Given the description of an element on the screen output the (x, y) to click on. 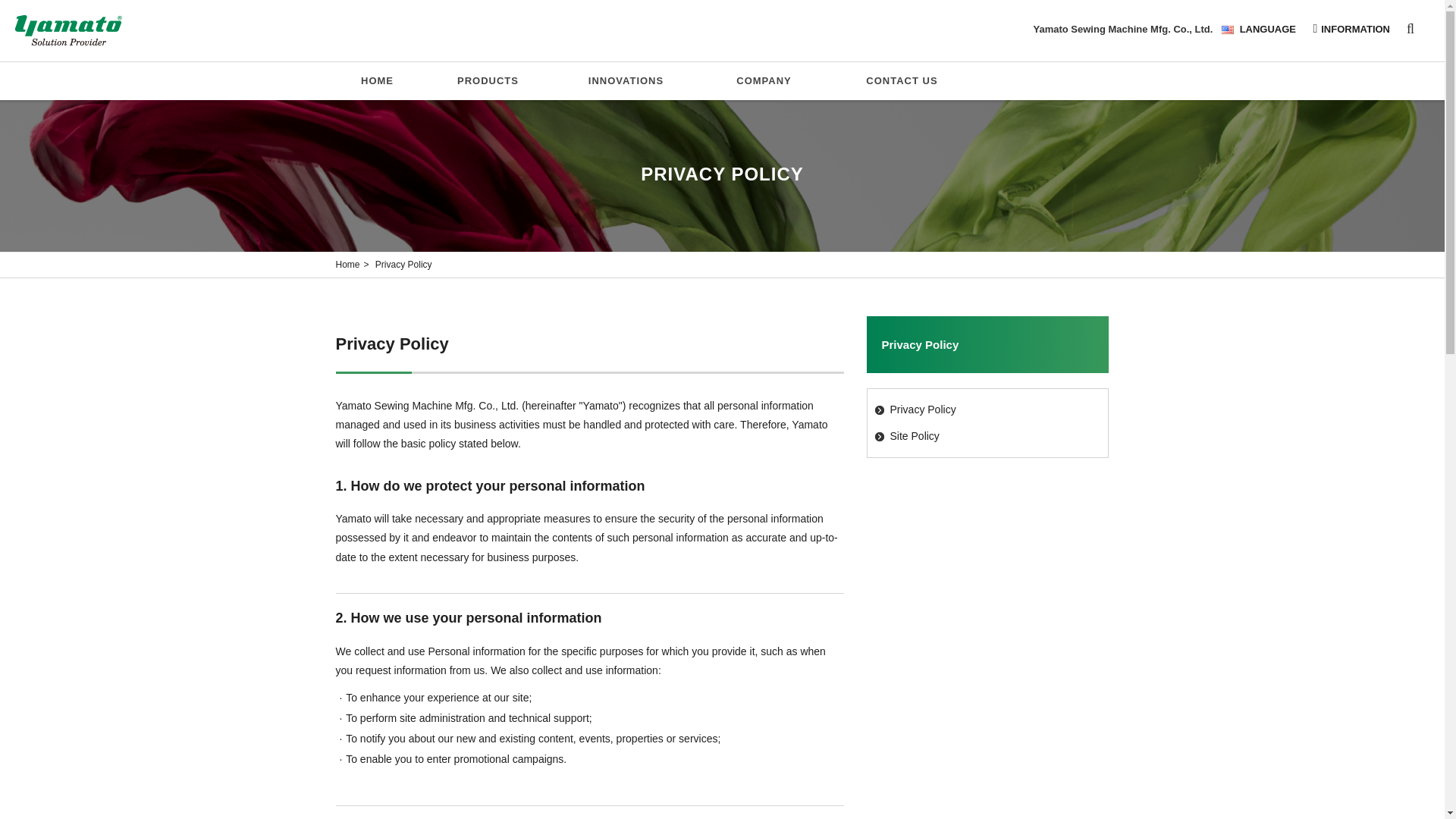
 LANGUAGE (1262, 30)
HOME (376, 80)
CONTACT US (901, 80)
INFORMATION (1356, 29)
INNOVATIONS (625, 80)
COMPANY (763, 80)
PRODUCTS (487, 80)
Home (346, 264)
